Given the description of an element on the screen output the (x, y) to click on. 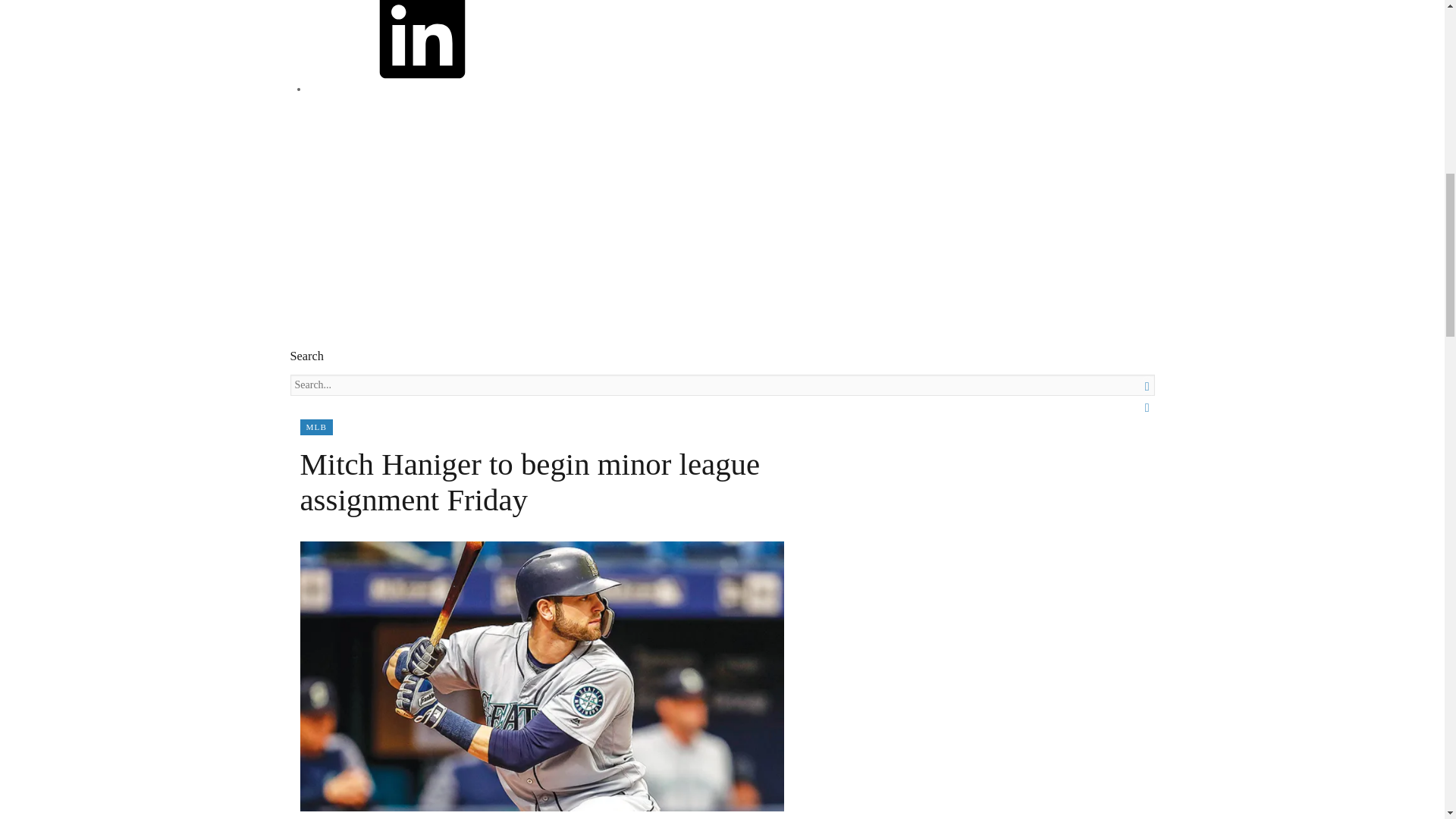
MLB (316, 426)
LinkedIn (421, 89)
